Given the description of an element on the screen output the (x, y) to click on. 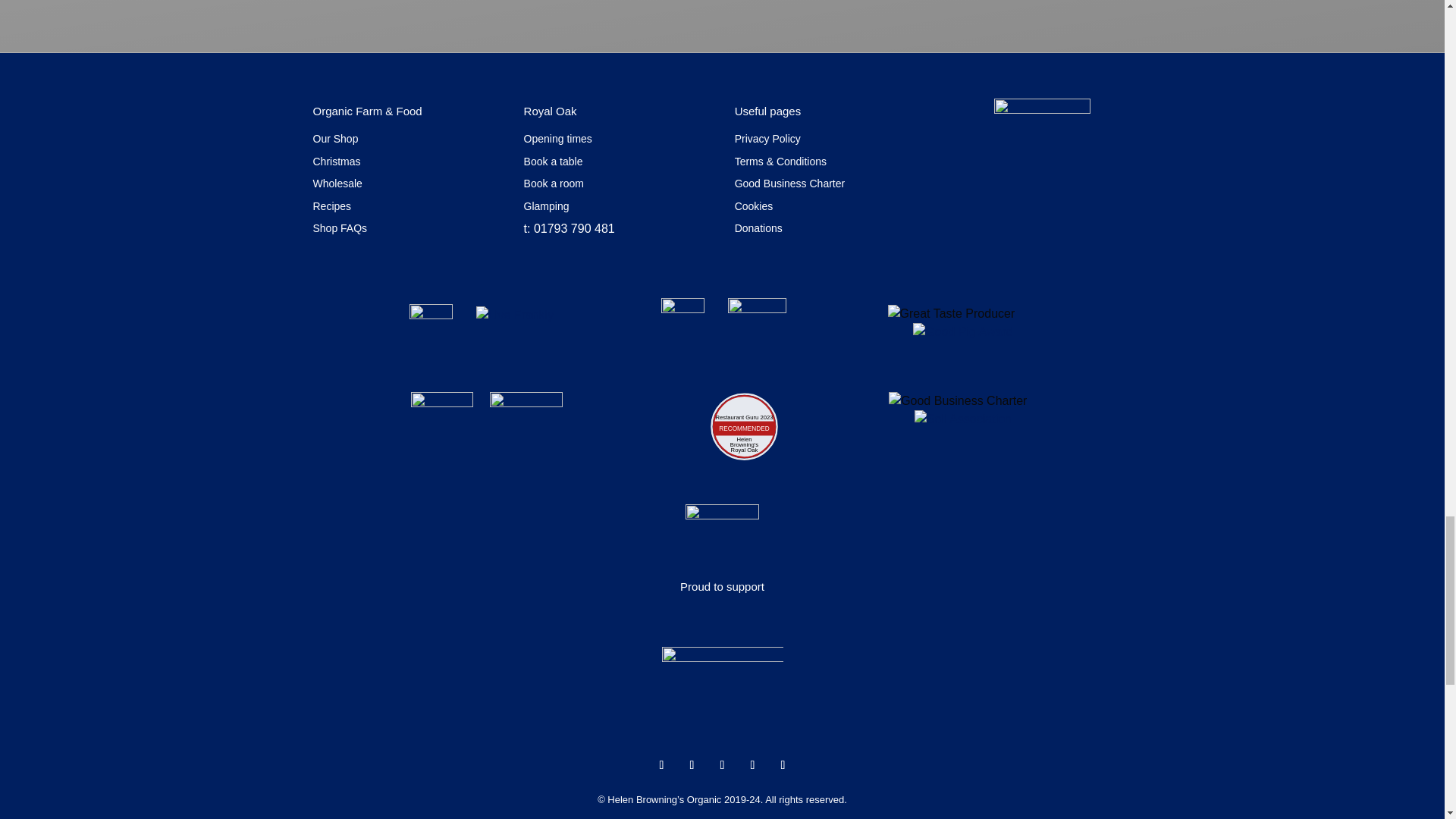
Follow on X (691, 764)
HBO-logo-footer-01 (722, 686)
Follow on Instagram (721, 764)
Follow on Facebook (660, 764)
